Given the description of an element on the screen output the (x, y) to click on. 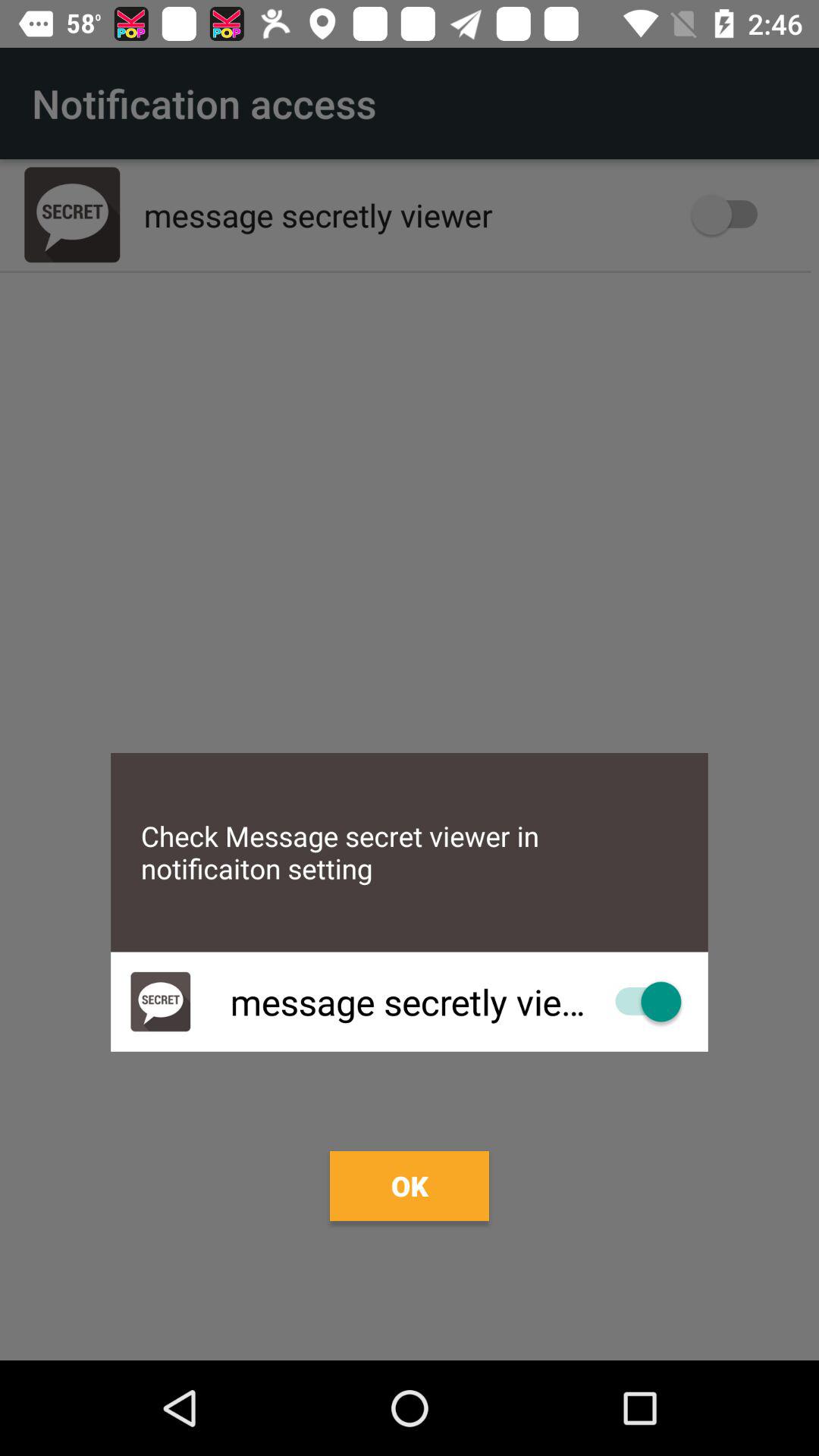
turn on the ok item (409, 1186)
